Given the description of an element on the screen output the (x, y) to click on. 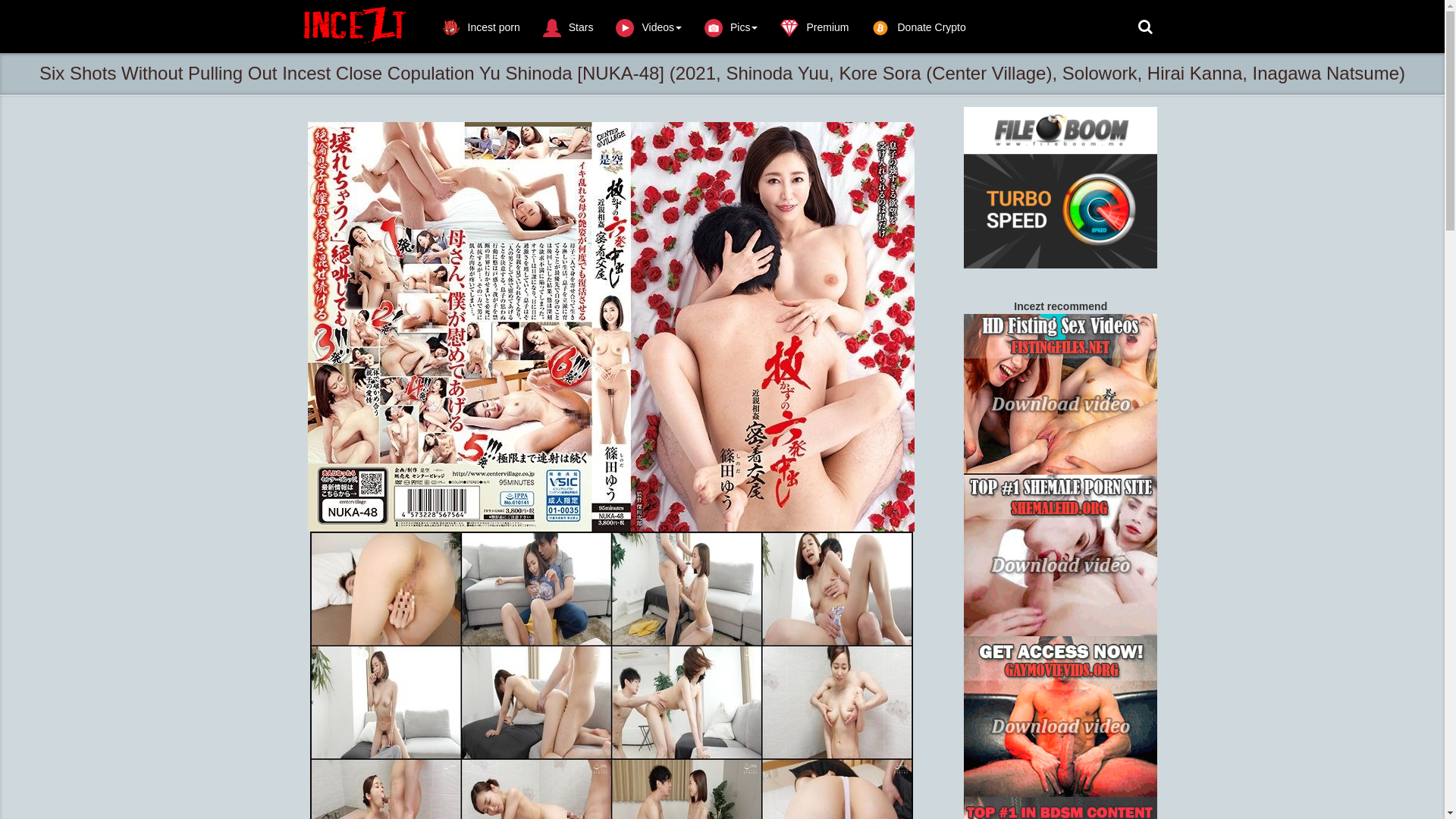
Premium Element type: text (814, 26)
Pics Element type: text (730, 26)
Stars Element type: text (567, 26)
shemalehd Element type: hover (1060, 555)
Videos Element type: text (648, 26)
Donate Crypto Element type: text (918, 26)
fistingfiles Element type: hover (1060, 394)
Incest porn Element type: text (480, 26)
gaymovievids Element type: hover (1060, 716)
